Given the description of an element on the screen output the (x, y) to click on. 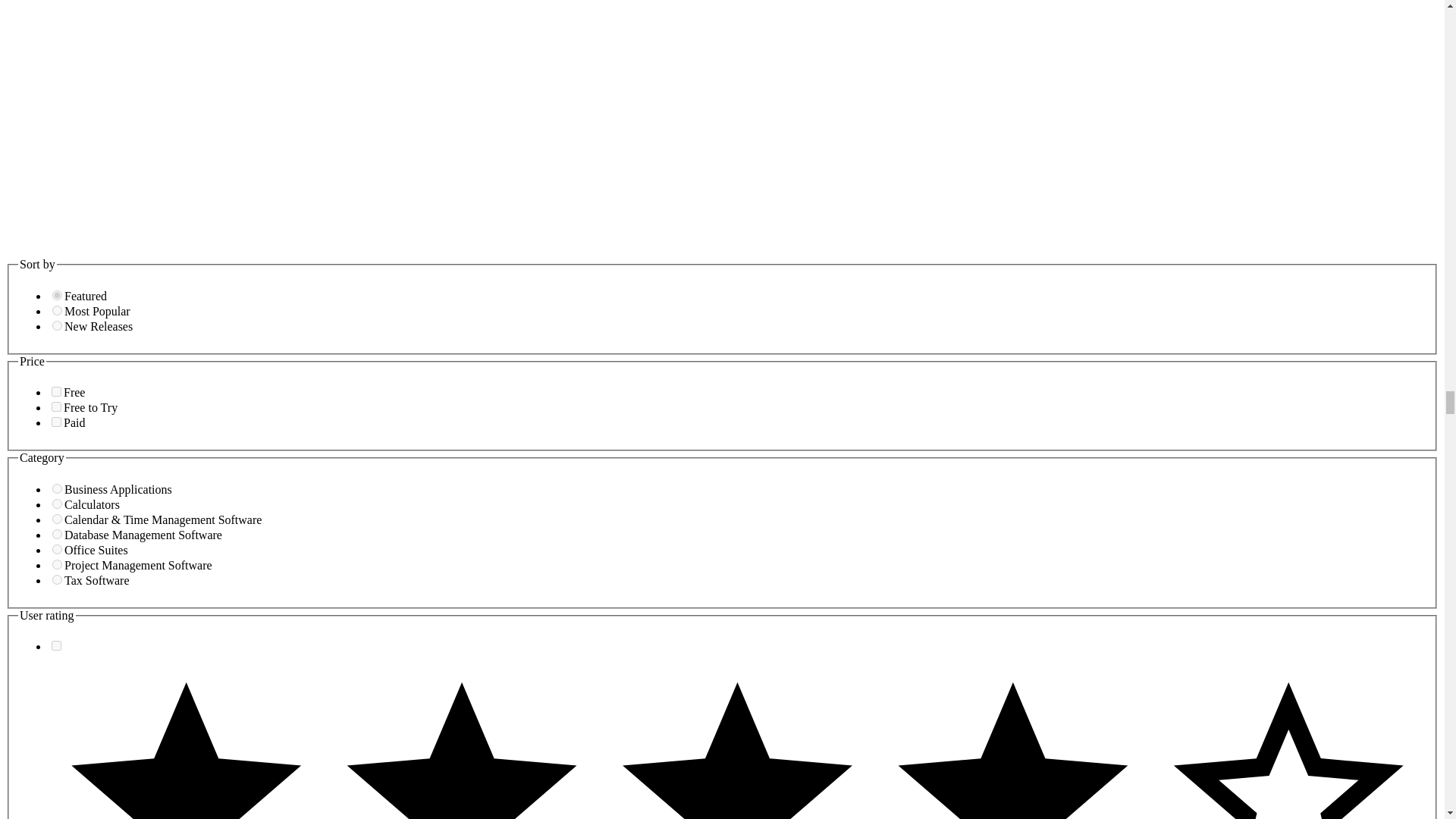
paid (55, 421)
newReleases (57, 325)
freeToTry (55, 406)
business-databases (57, 533)
free (55, 391)
project-management-software (57, 564)
featured (57, 295)
utilities-calculators (57, 503)
productivity-calenders-planners (57, 519)
business-office-suites (57, 549)
